Given the description of an element on the screen output the (x, y) to click on. 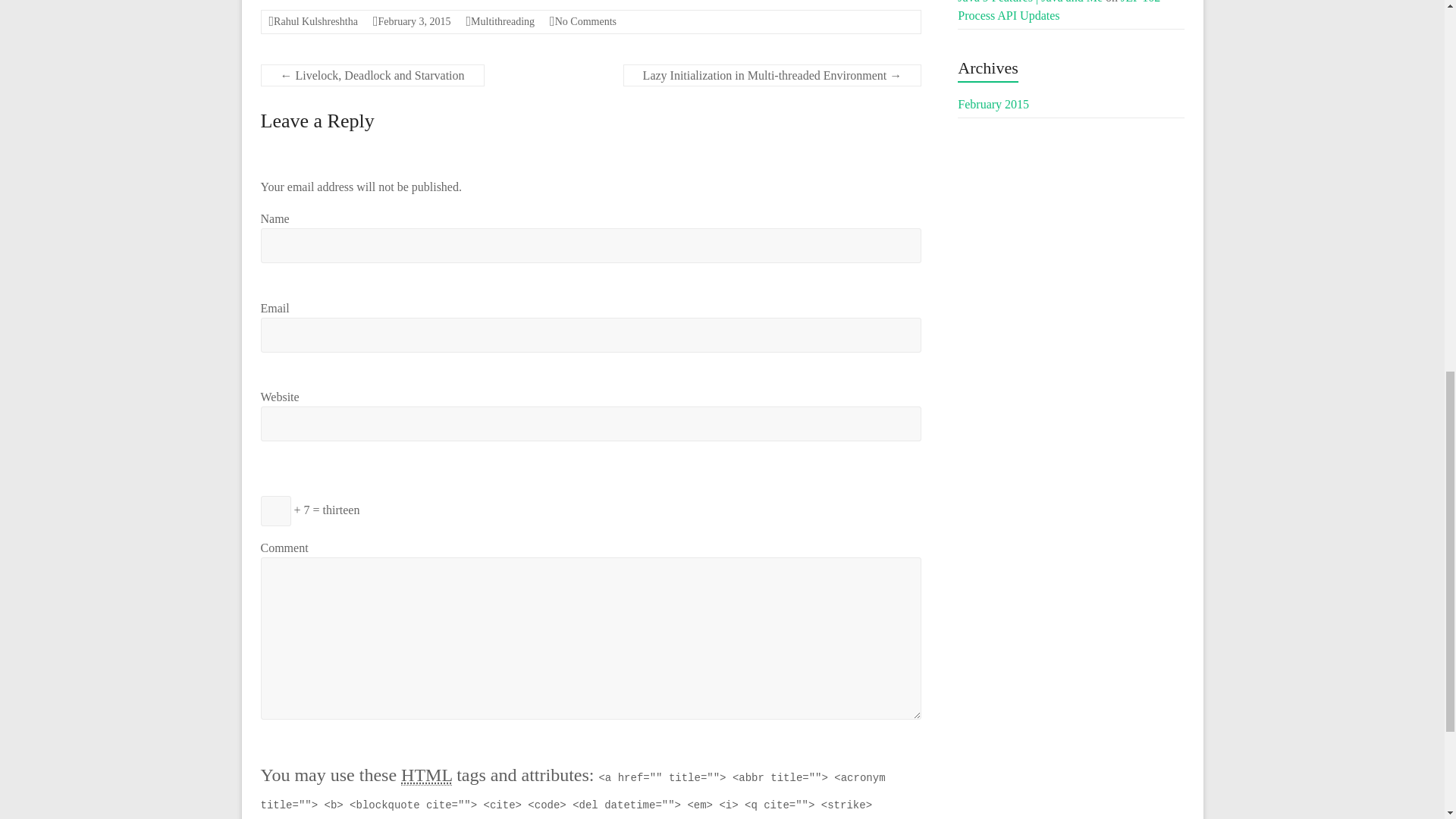
Comment on Java Memory Model and Synchronization (584, 21)
JEP 102- Process API Updates (1060, 11)
February 2015 (993, 103)
No Comments (584, 21)
HyperText Markup Language (426, 774)
February 3, 2015 (413, 21)
Multithreading (502, 21)
Rahul Kulshreshtha (315, 21)
7:41 pm (413, 21)
